Given the description of an element on the screen output the (x, y) to click on. 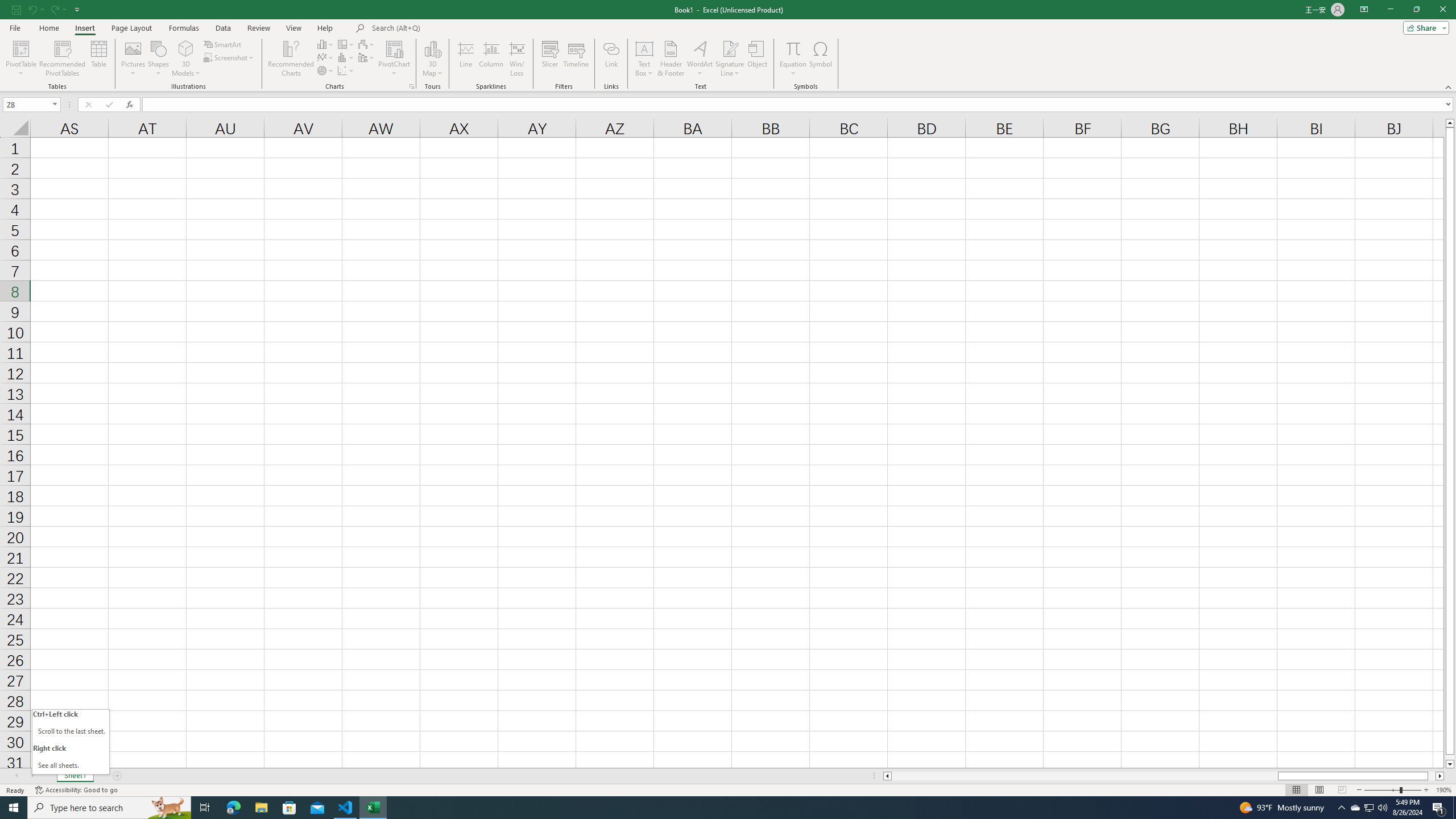
Quick Access Toolbar (46, 9)
3D Models (186, 58)
